Given the description of an element on the screen output the (x, y) to click on. 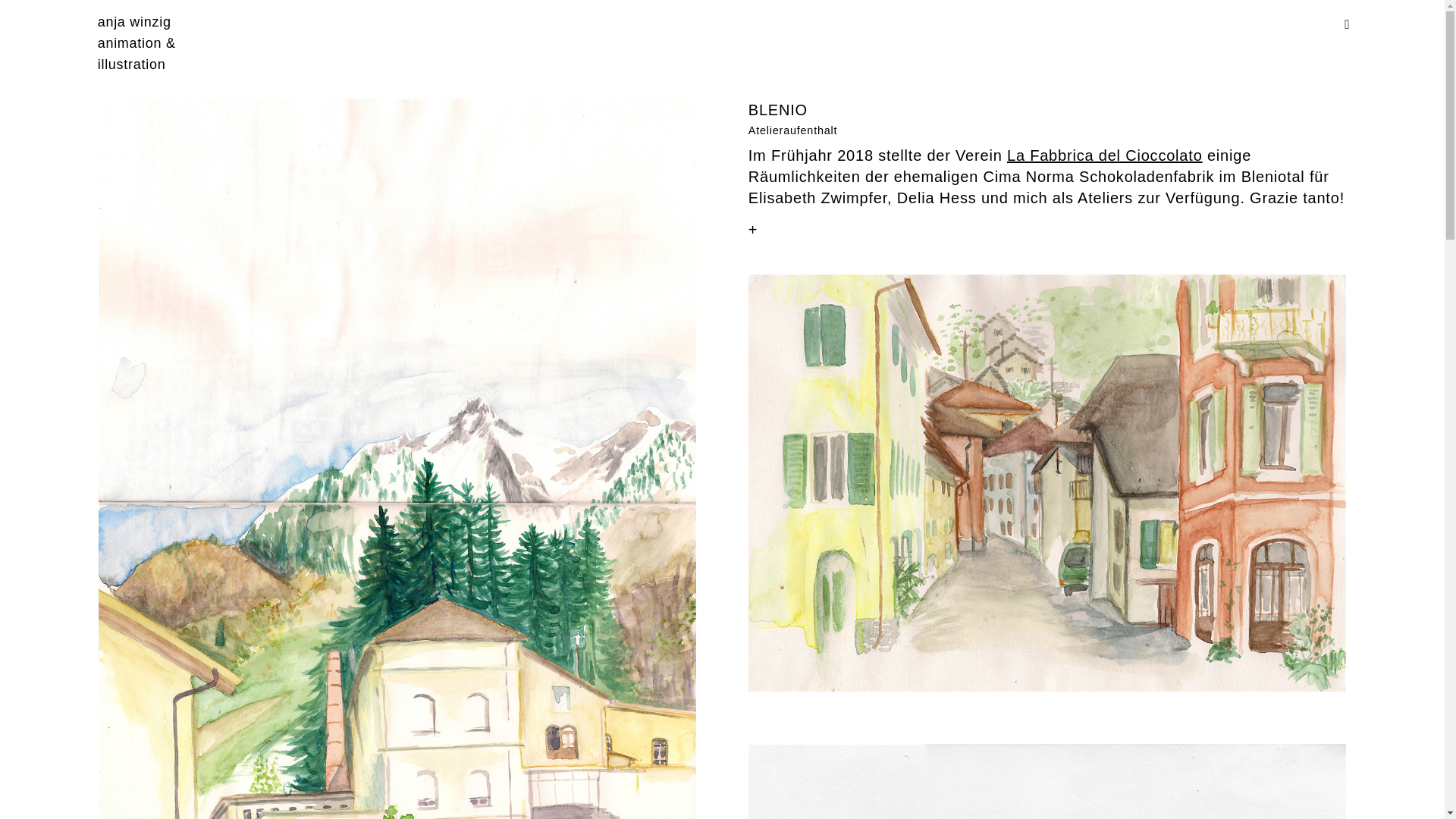
anja winzig
animation &
illustration Element type: text (136, 43)
La Fabbrica del Cioccolato Element type: text (1104, 155)
Dorfkern Malvaglia Element type: hover (1047, 482)
